Given the description of an element on the screen output the (x, y) to click on. 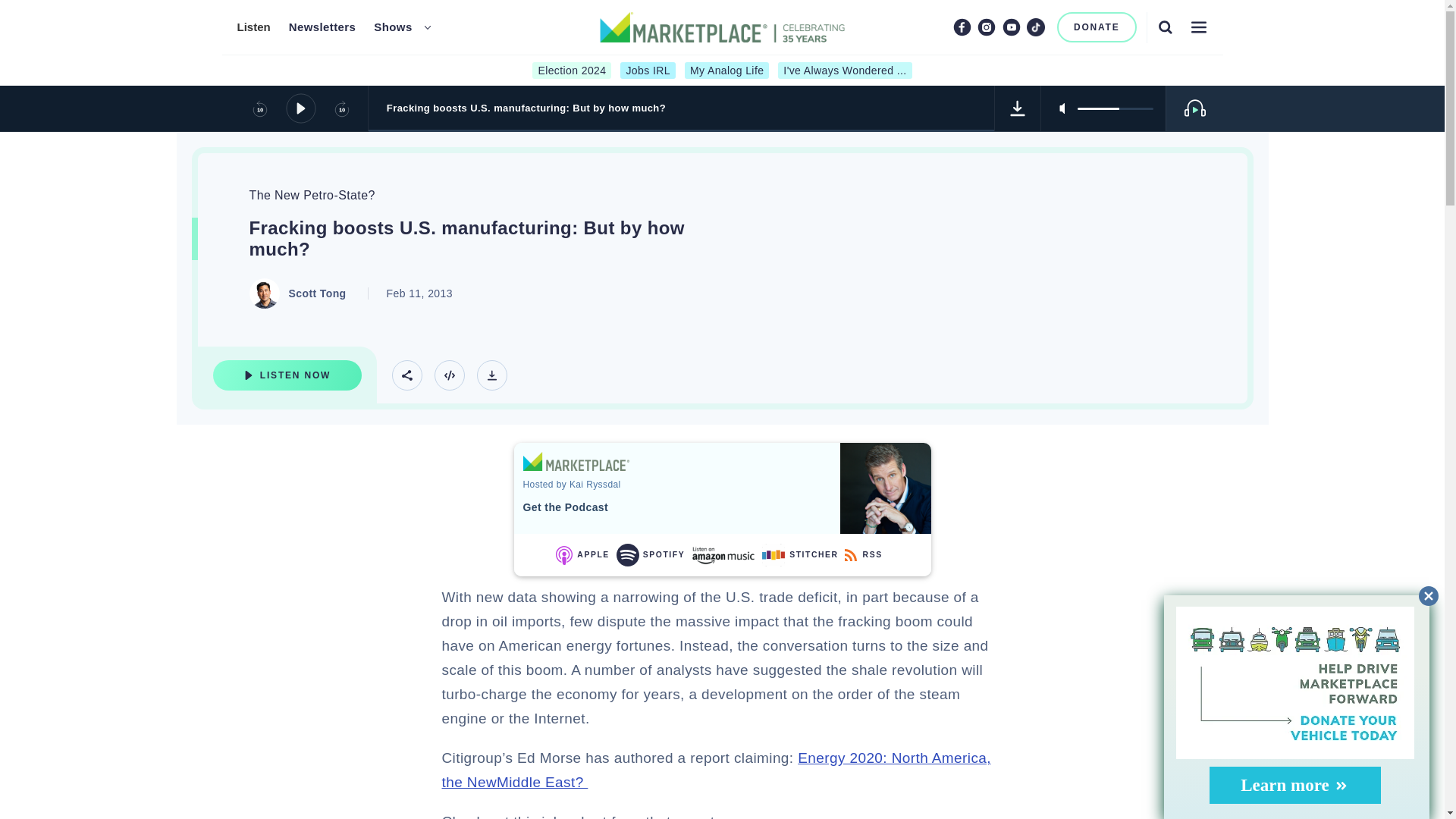
Listen Now (286, 374)
Facebook (962, 27)
Download Track (491, 374)
TikTok (1035, 27)
Shows (393, 26)
Newsletters (322, 27)
Youtube (1011, 27)
5 (1115, 108)
DONATE (1097, 27)
Download Track (1017, 108)
volume (1115, 108)
Marketplace (575, 461)
Listen (252, 26)
Menu (1198, 27)
